Given the description of an element on the screen output the (x, y) to click on. 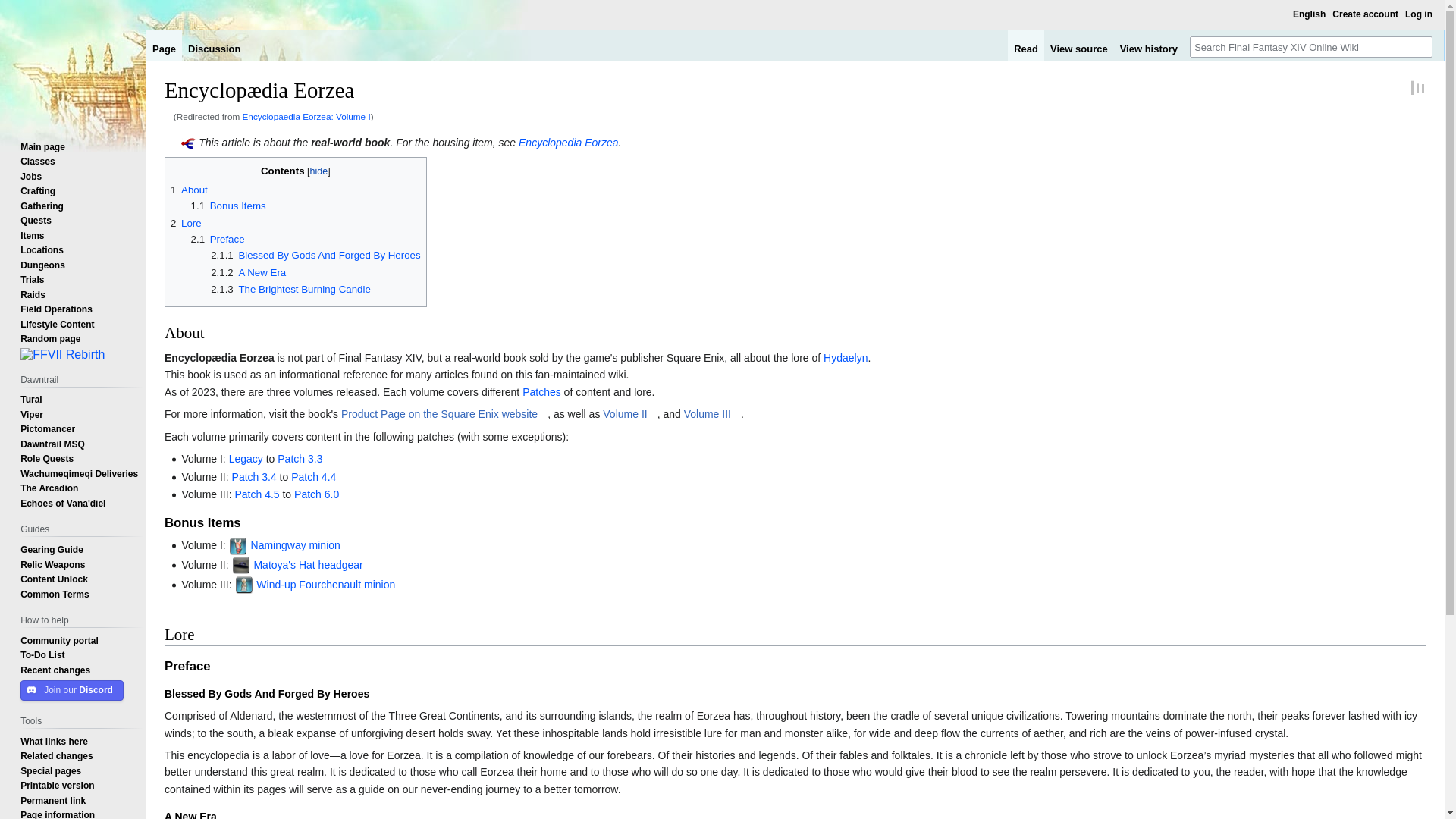
Patch 3.3 (299, 458)
Patch 4.4 (313, 476)
Patch 4.4 (313, 476)
Legacy (245, 458)
Volume II (629, 413)
Wind-up Fourchenault (308, 584)
headgear (340, 564)
Product Page on the Square Enix website (443, 413)
1.1 Bonus Items (228, 205)
Head (340, 564)
Minions (324, 544)
Volume III (712, 413)
2.1.2 A New Era (248, 272)
Search (1420, 46)
